Given the description of an element on the screen output the (x, y) to click on. 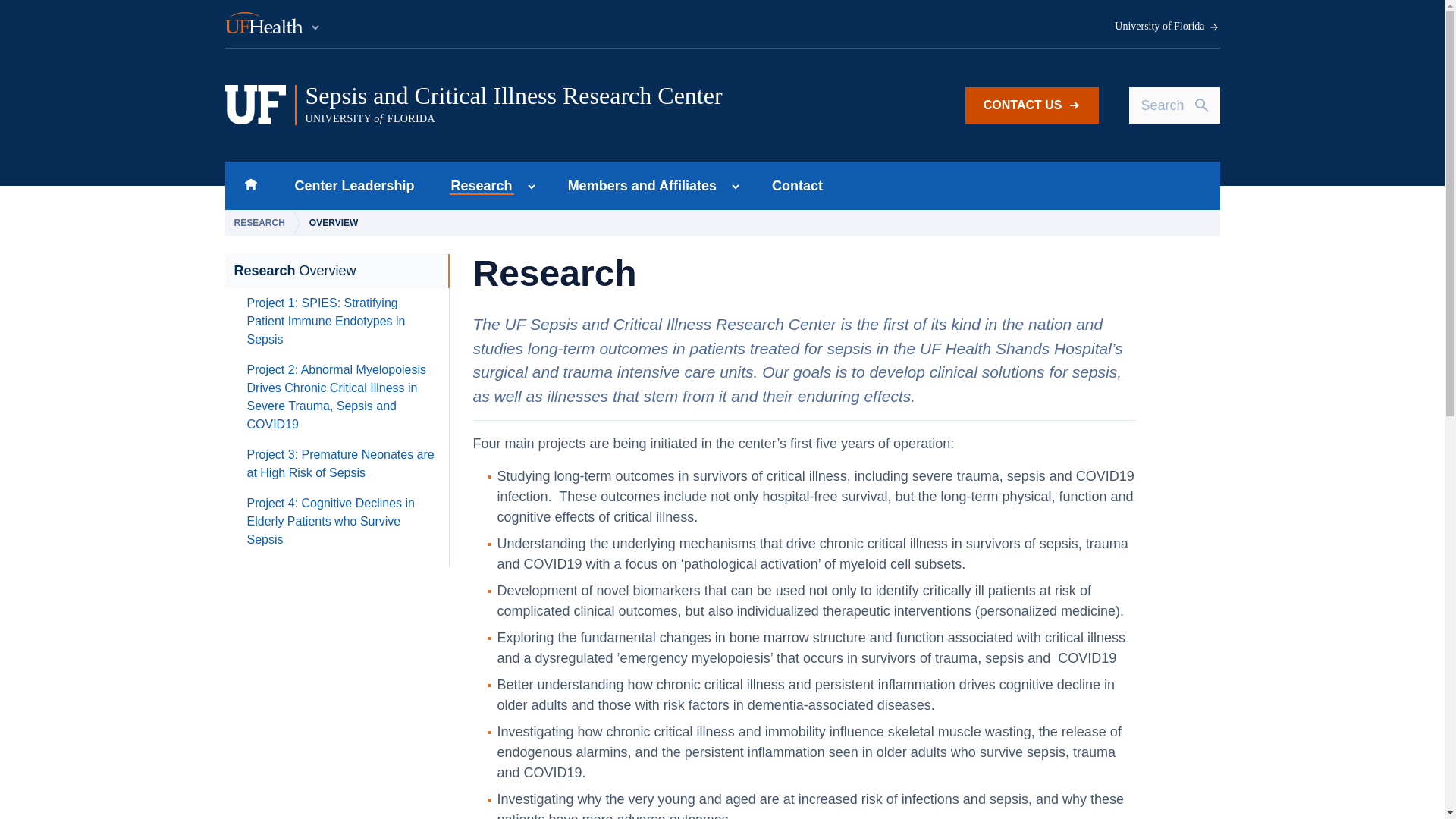
Contact (476, 185)
Skip to main content (797, 185)
Members and Affiliates (1032, 104)
Project 3: Premature Neonates are at High Risk of Sepsis (637, 185)
Skip to main content (341, 463)
